Given the description of an element on the screen output the (x, y) to click on. 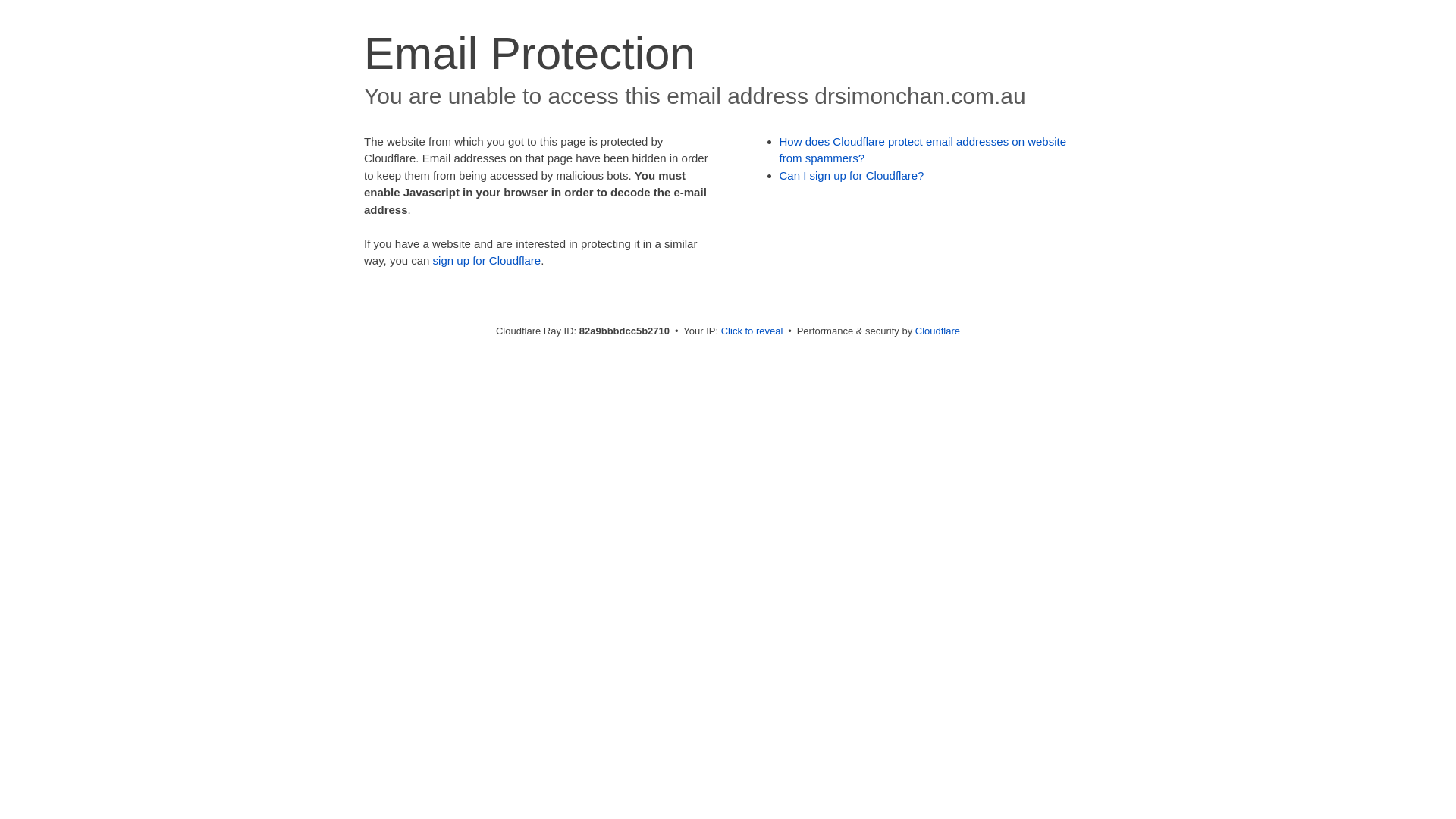
Can I sign up for Cloudflare? Element type: text (851, 175)
Click to reveal Element type: text (752, 330)
sign up for Cloudflare Element type: text (487, 260)
Cloudflare Element type: text (937, 330)
